Given the description of an element on the screen output the (x, y) to click on. 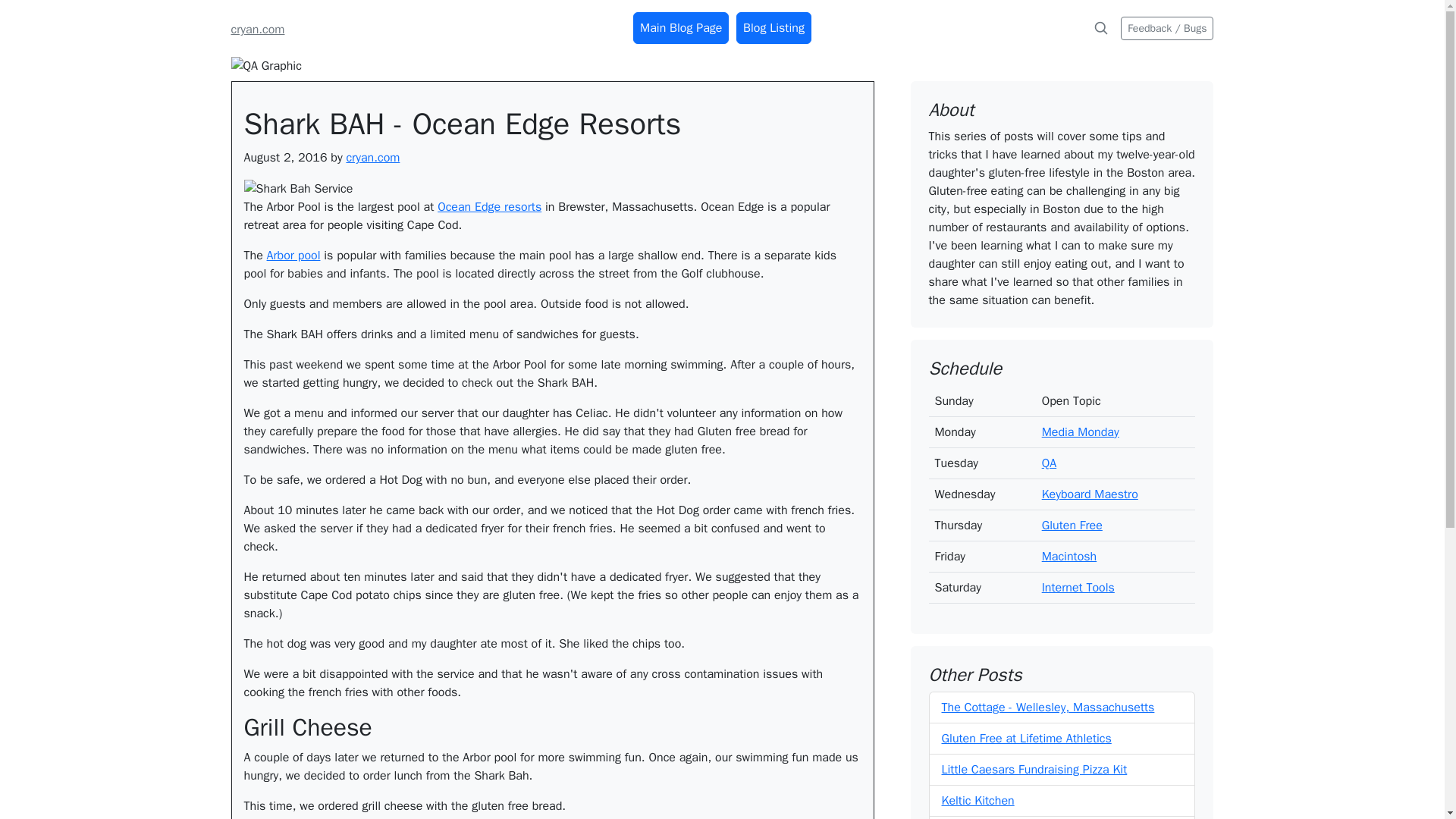
cryan.com (256, 29)
Search (1101, 28)
Macintosh (1069, 556)
QA (1049, 462)
Main Blog Page (681, 28)
Gluten Free at Lifetime Athletics (1027, 738)
Ocean Edge resorts (489, 206)
The Cottage - Wellesley, Massachusetts (1048, 707)
Arbor pool (293, 255)
Keltic Kitchen (978, 800)
Little Caesars Fundraising Pizza Kit (1034, 769)
Internet Tools (1078, 587)
Media Monday (1080, 432)
Keyboard Maestro (1090, 494)
Search (1100, 28)
